Given the description of an element on the screen output the (x, y) to click on. 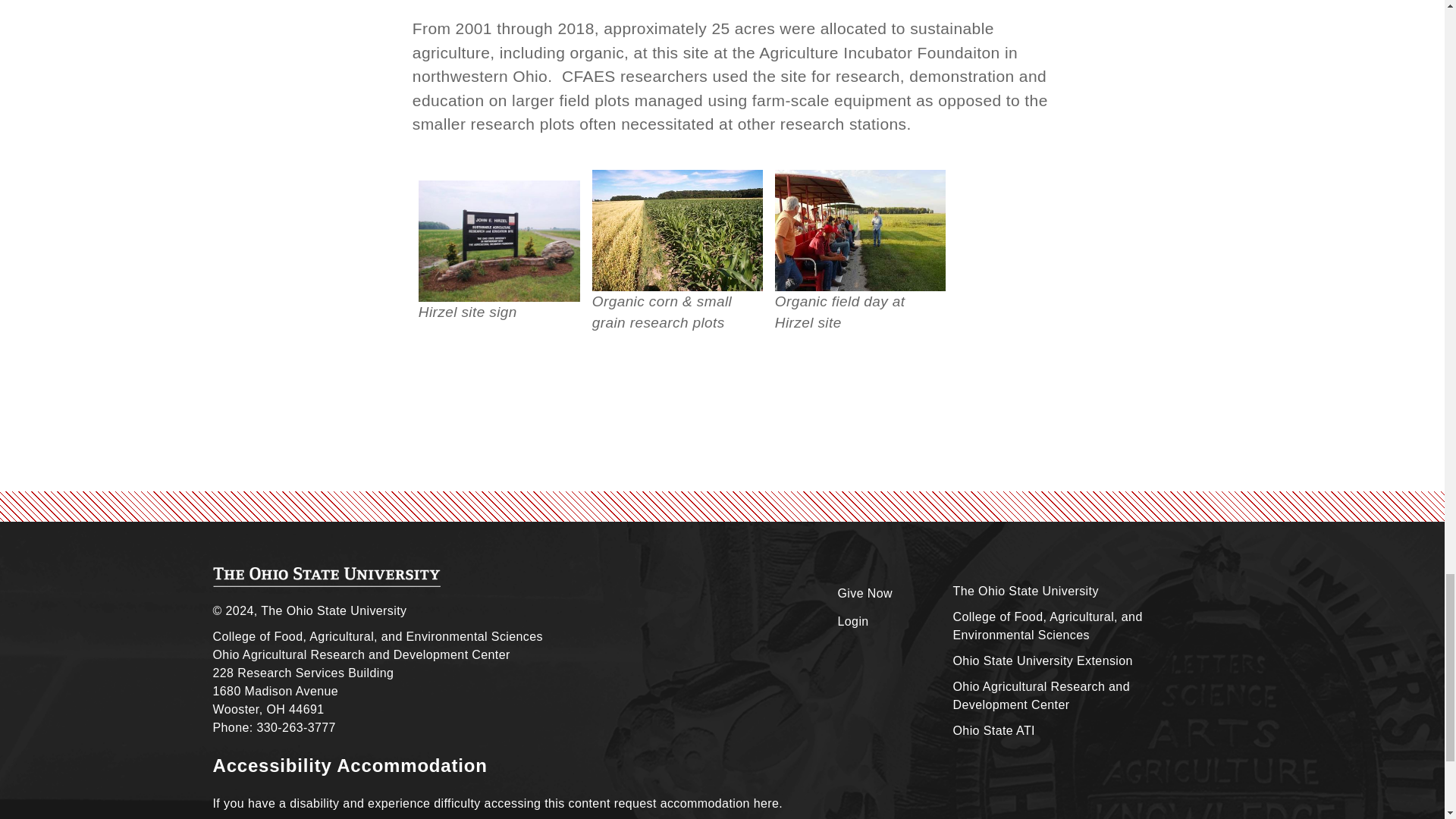
Hirzel site sign (499, 241)
Organic field day at Hirzel site (859, 230)
